Given the description of an element on the screen output the (x, y) to click on. 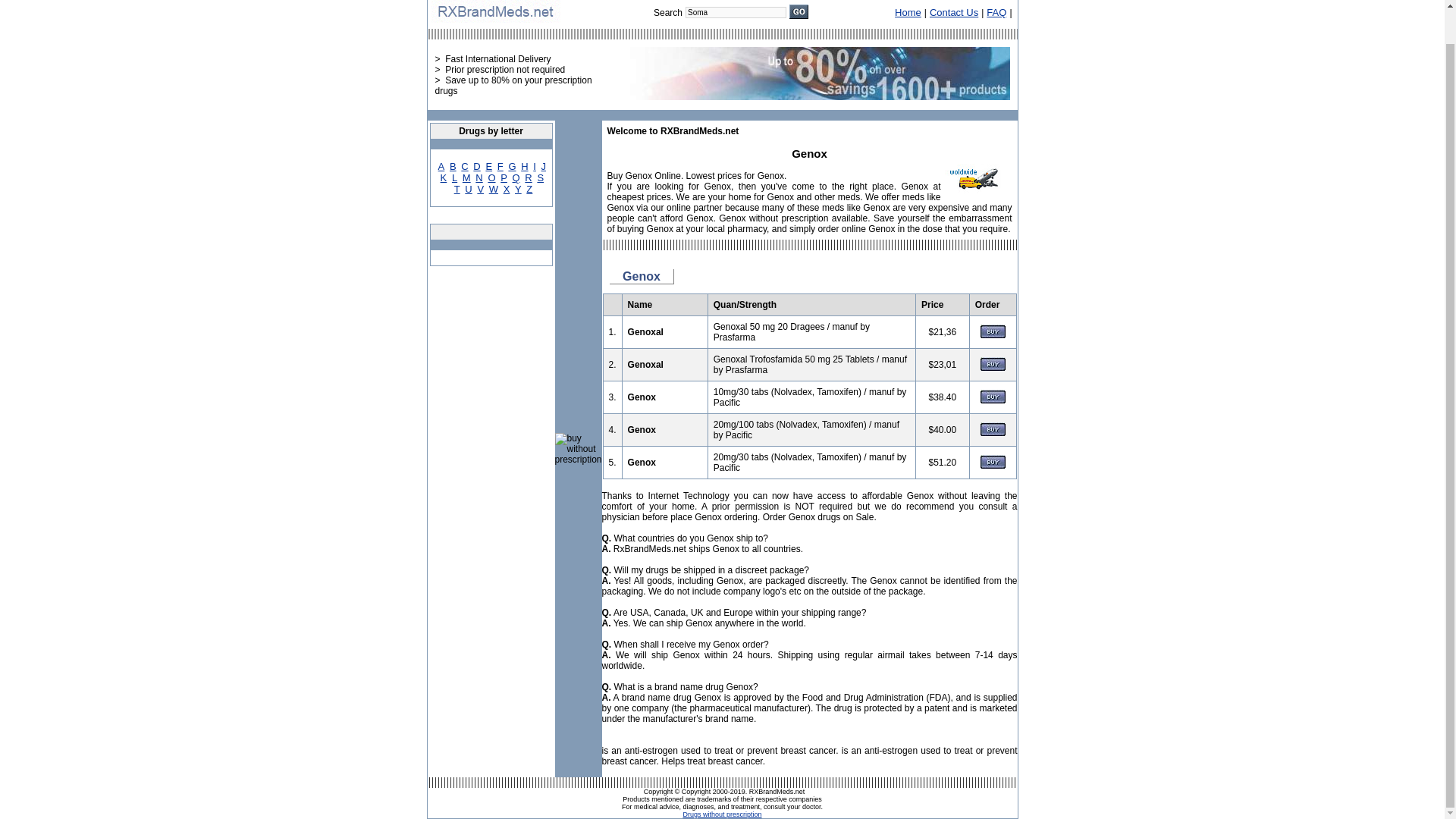
Home (908, 12)
FAQ (996, 12)
Drugs without prescription (721, 814)
Soma (735, 12)
Contact Us (954, 12)
